Given the description of an element on the screen output the (x, y) to click on. 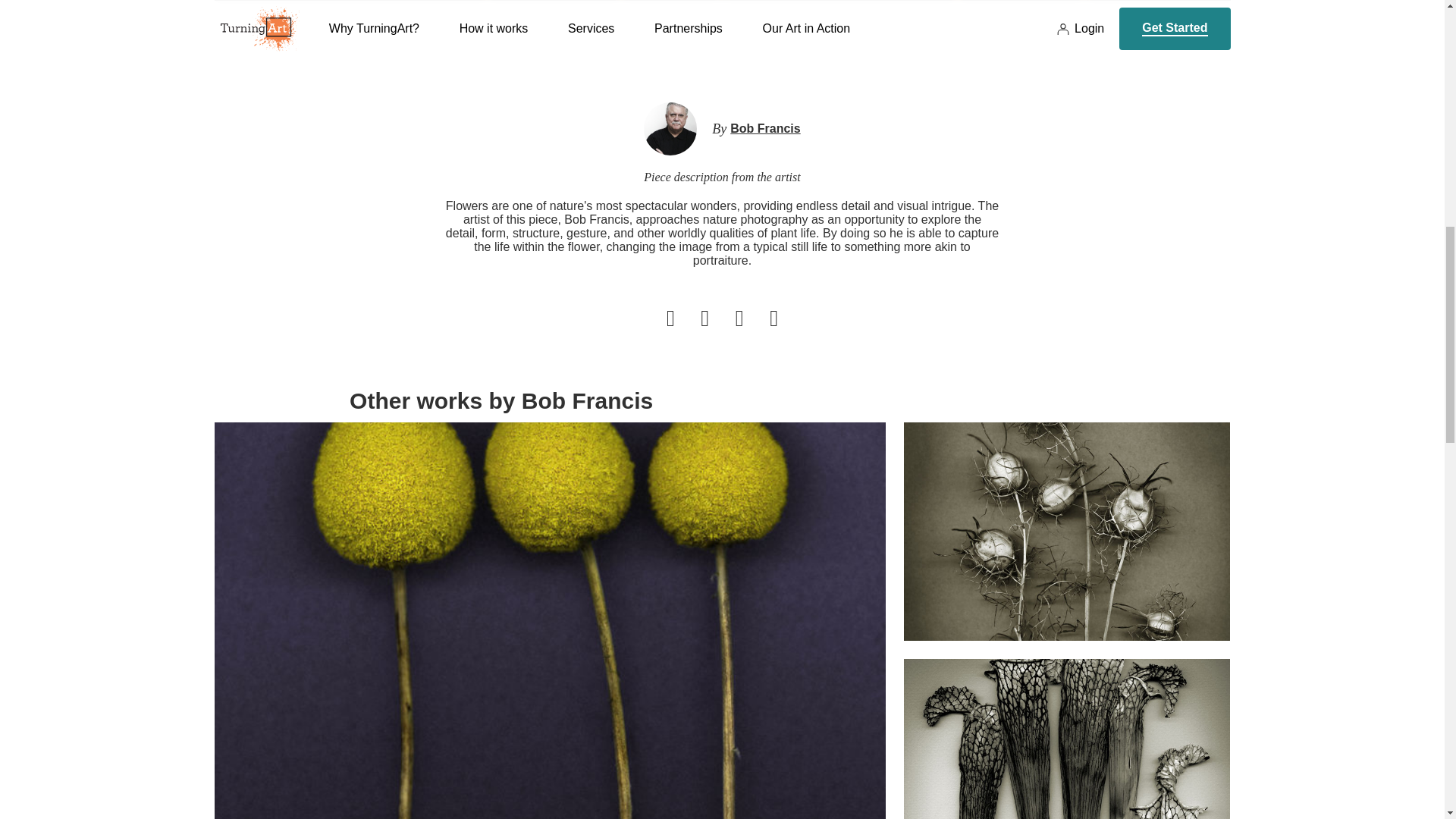
Bob Francis (764, 128)
